Given the description of an element on the screen output the (x, y) to click on. 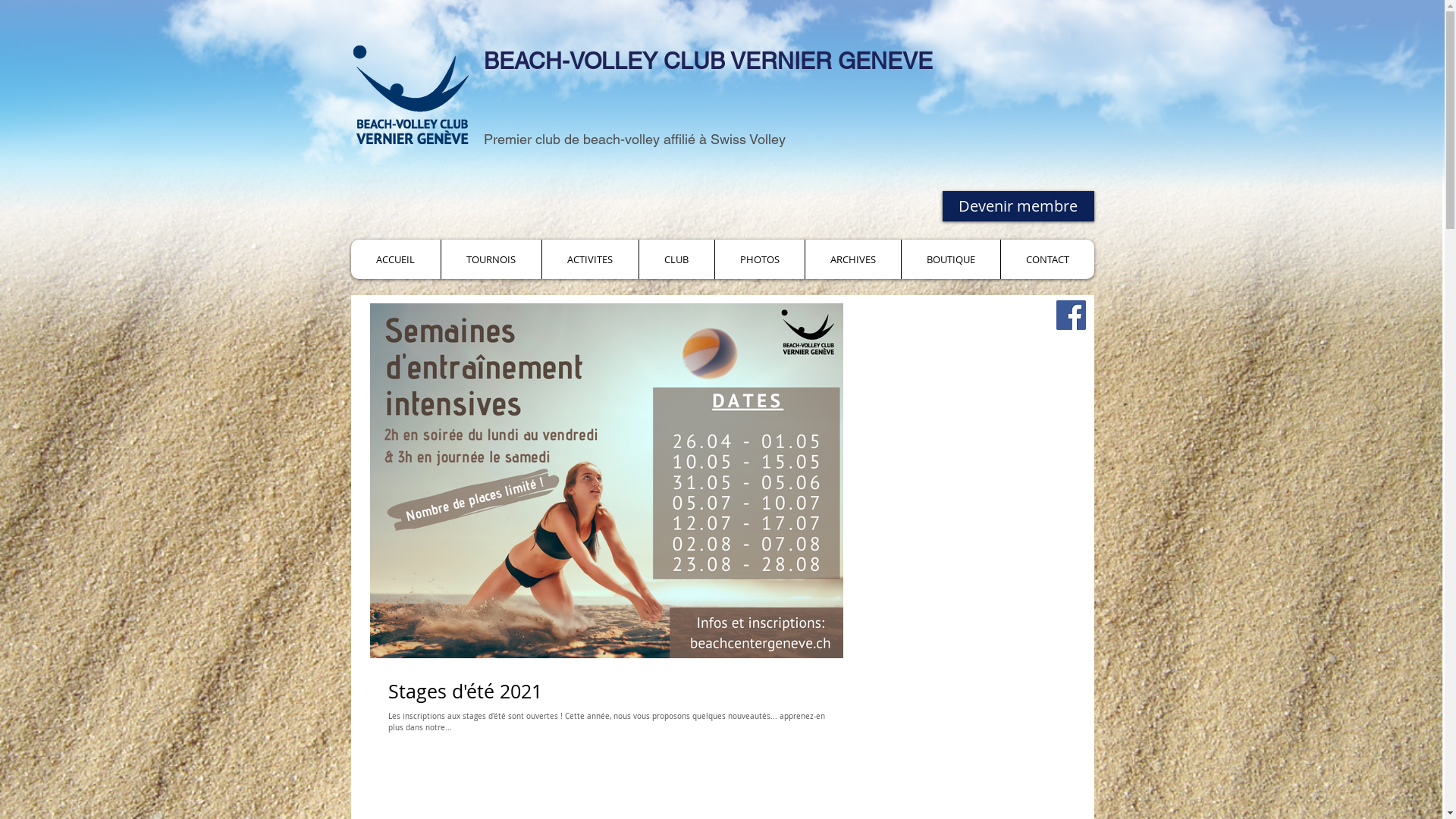
ACCUEIL Element type: text (394, 259)
BOUTIQUE Element type: text (950, 259)
Devenir membre Element type: text (1017, 206)
ACTIVITES Element type: text (589, 259)
CLUB Element type: text (676, 259)
CONTACT Element type: text (1046, 259)
PHOTOS Element type: text (759, 259)
BeachVolleyLogo_transparent_navy.png Element type: hover (410, 94)
ARCHIVES Element type: text (851, 259)
TOURNOIS Element type: text (489, 259)
